Given the description of an element on the screen output the (x, y) to click on. 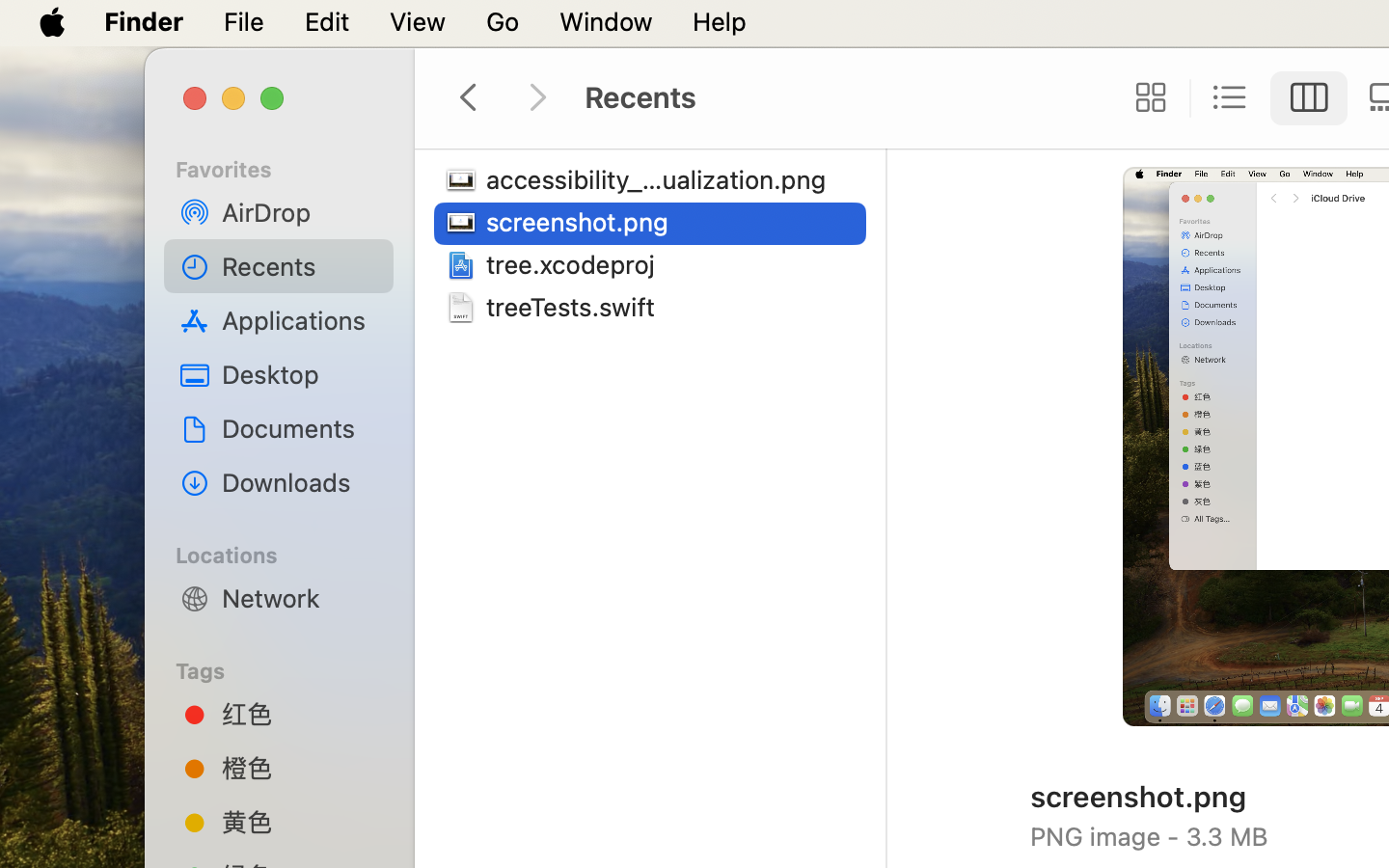
Applications Element type: AXStaticText (299, 319)
Tags Element type: AXStaticText (289, 668)
1 Element type: AXRadioButton (1308, 97)
Documents Element type: AXStaticText (299, 427)
